Given the description of an element on the screen output the (x, y) to click on. 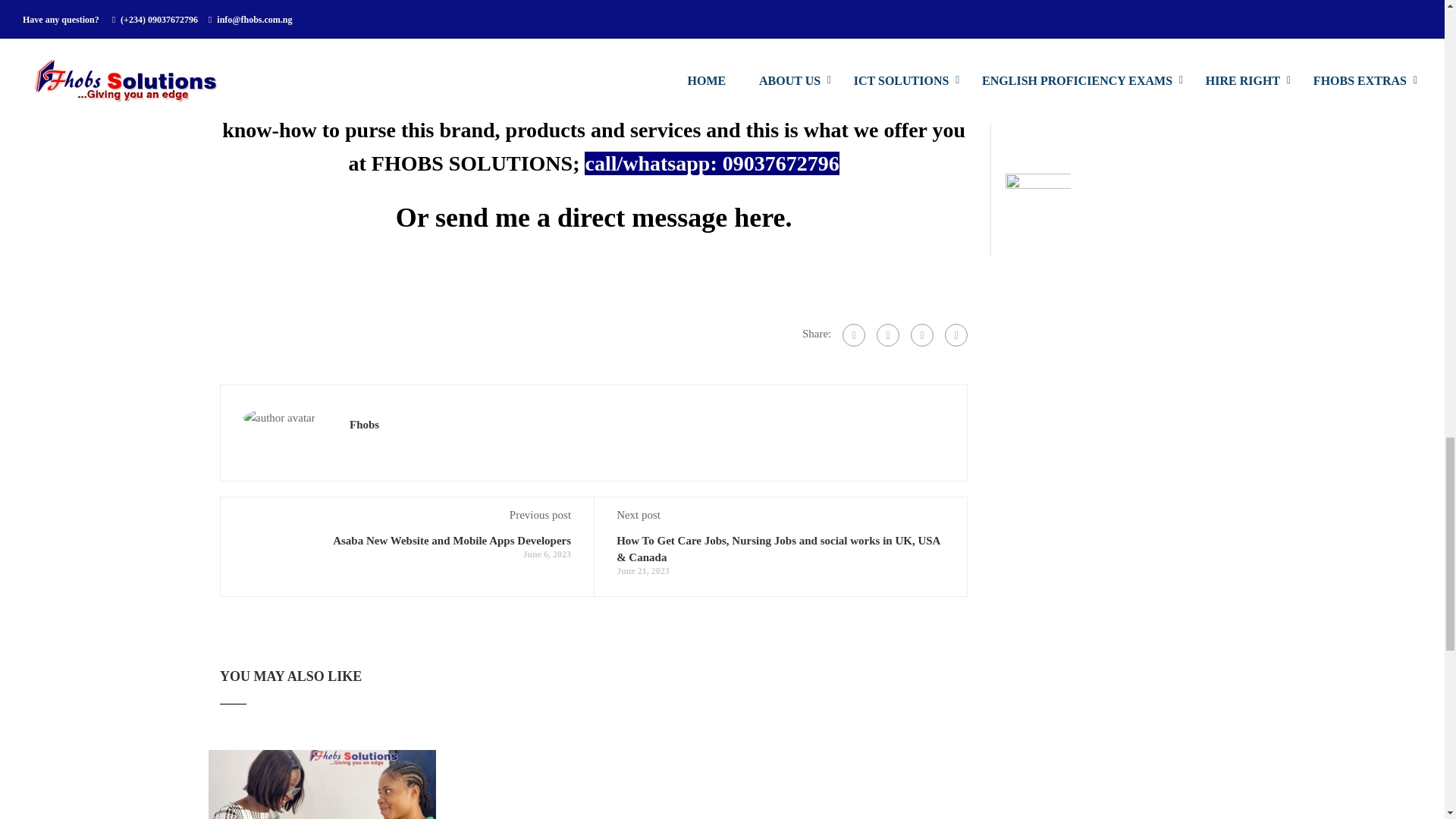
the-role-of-digital-marketing-in-hitting-your-sales-taget (321, 784)
Pinterest (956, 334)
Google Plus (887, 334)
Twitter (922, 334)
Facebook (853, 334)
